Given the description of an element on the screen output the (x, y) to click on. 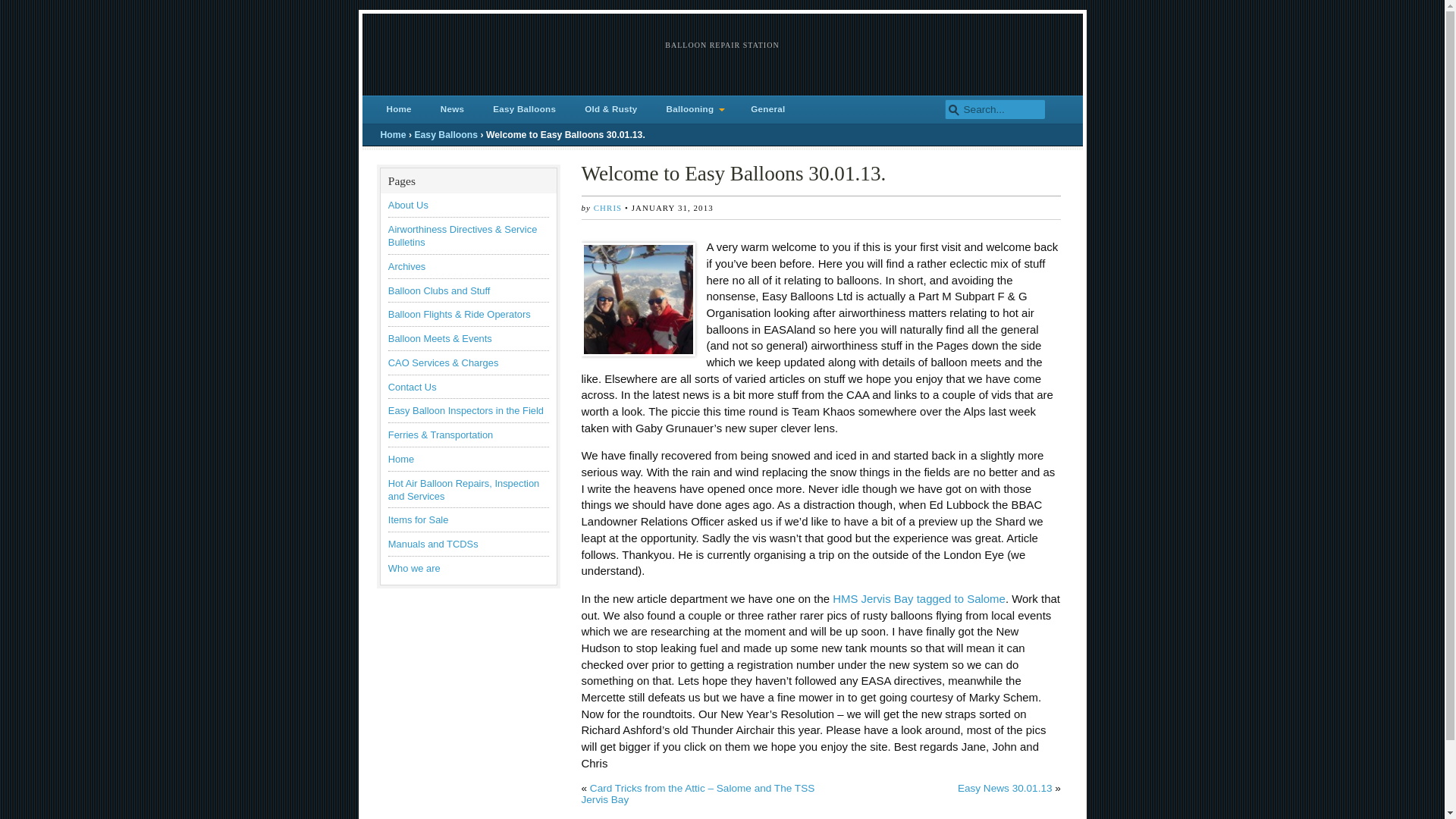
Easy Balloons (523, 109)
Who we are (414, 568)
CHRIS (607, 207)
General (766, 109)
Easy Balloons (445, 134)
Items for Sale (418, 519)
Manuals and TCDSs (433, 543)
News (451, 109)
Home (393, 134)
Balloon Clubs and Stuff (439, 290)
